Given the description of an element on the screen output the (x, y) to click on. 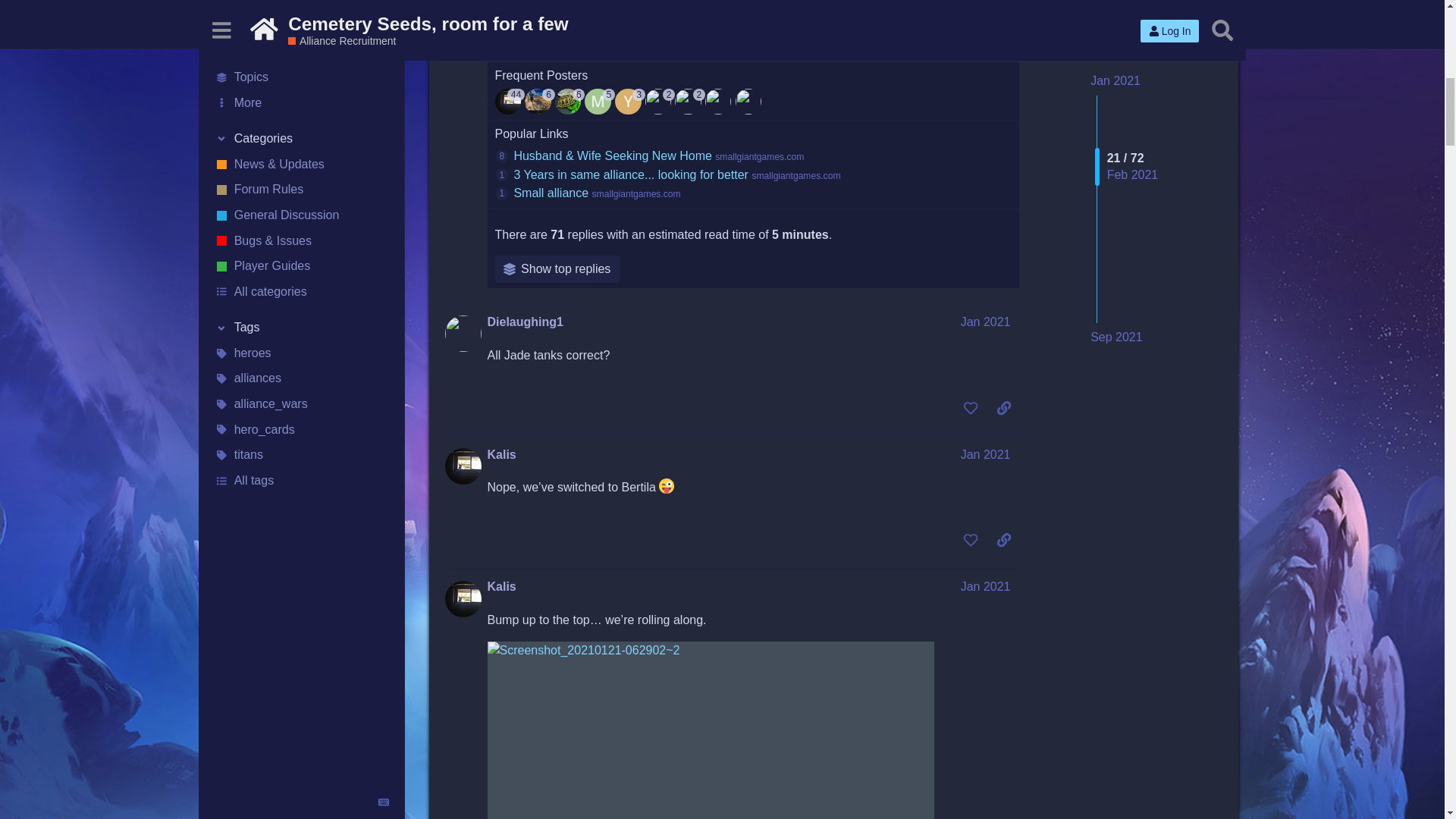
Keyboard Shortcuts (384, 136)
